Given the description of an element on the screen output the (x, y) to click on. 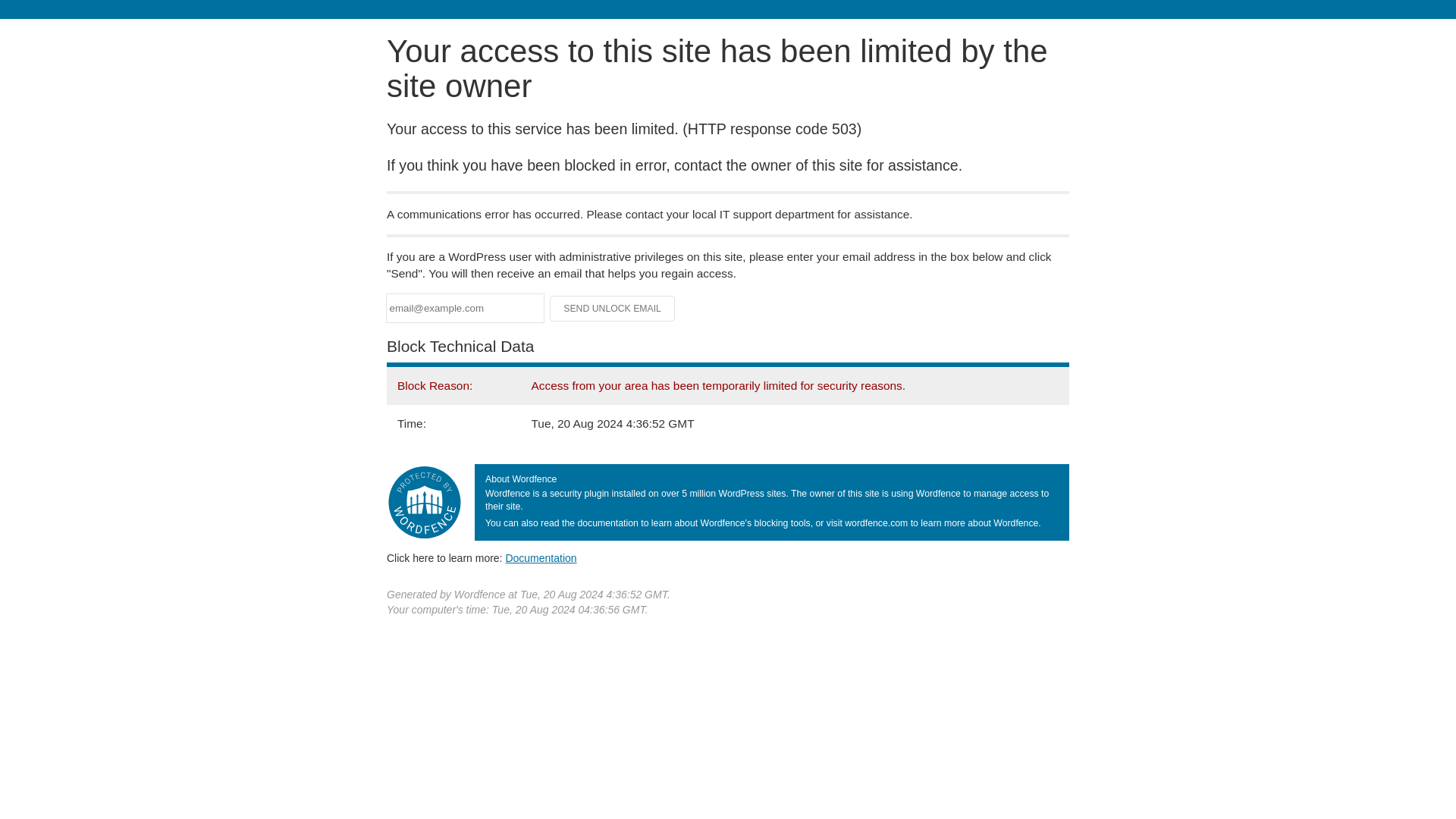
Send Unlock Email (612, 308)
Send Unlock Email (612, 308)
Documentation (540, 558)
